Given the description of an element on the screen output the (x, y) to click on. 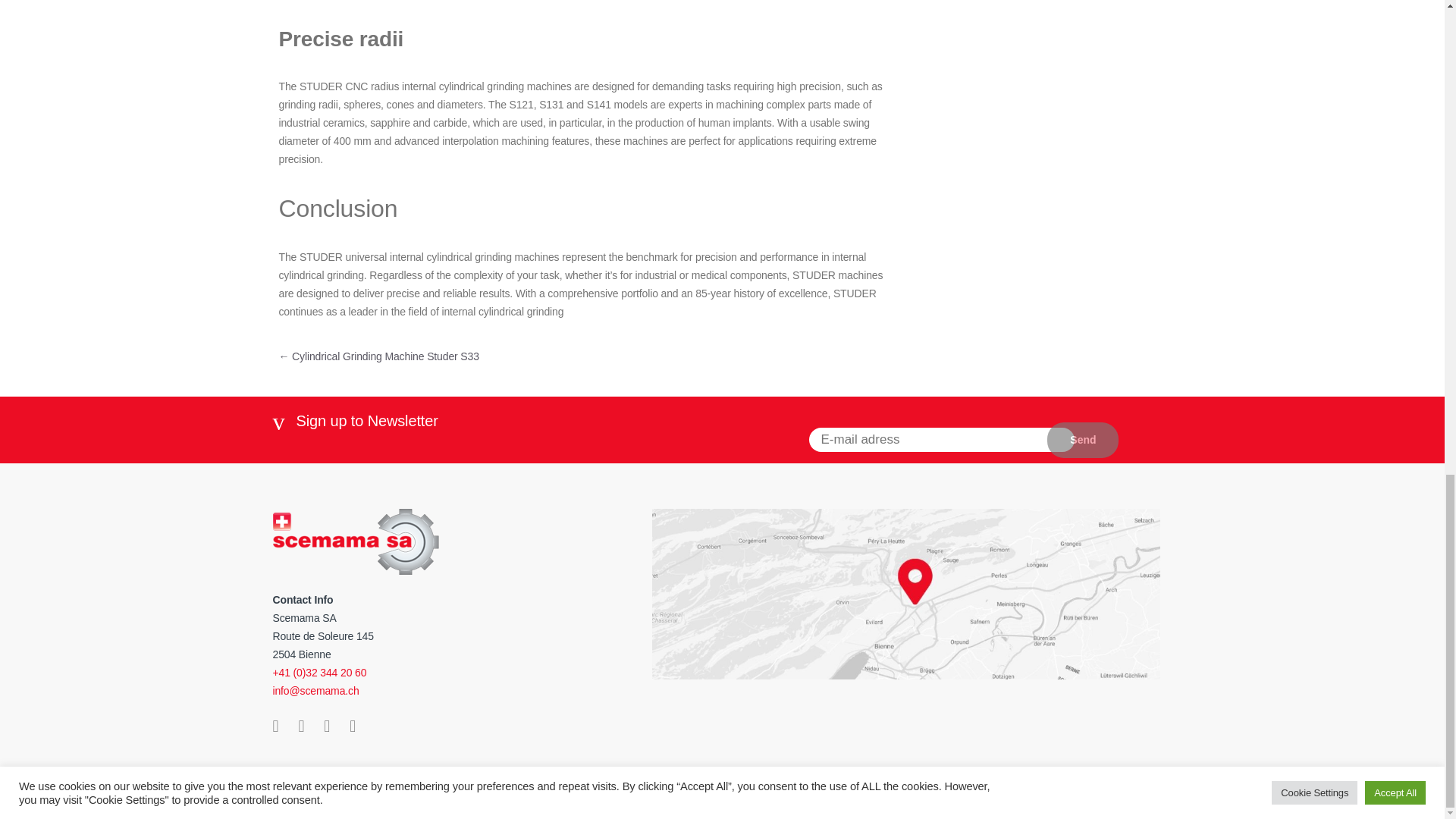
Send (1082, 439)
